Given the description of an element on the screen output the (x, y) to click on. 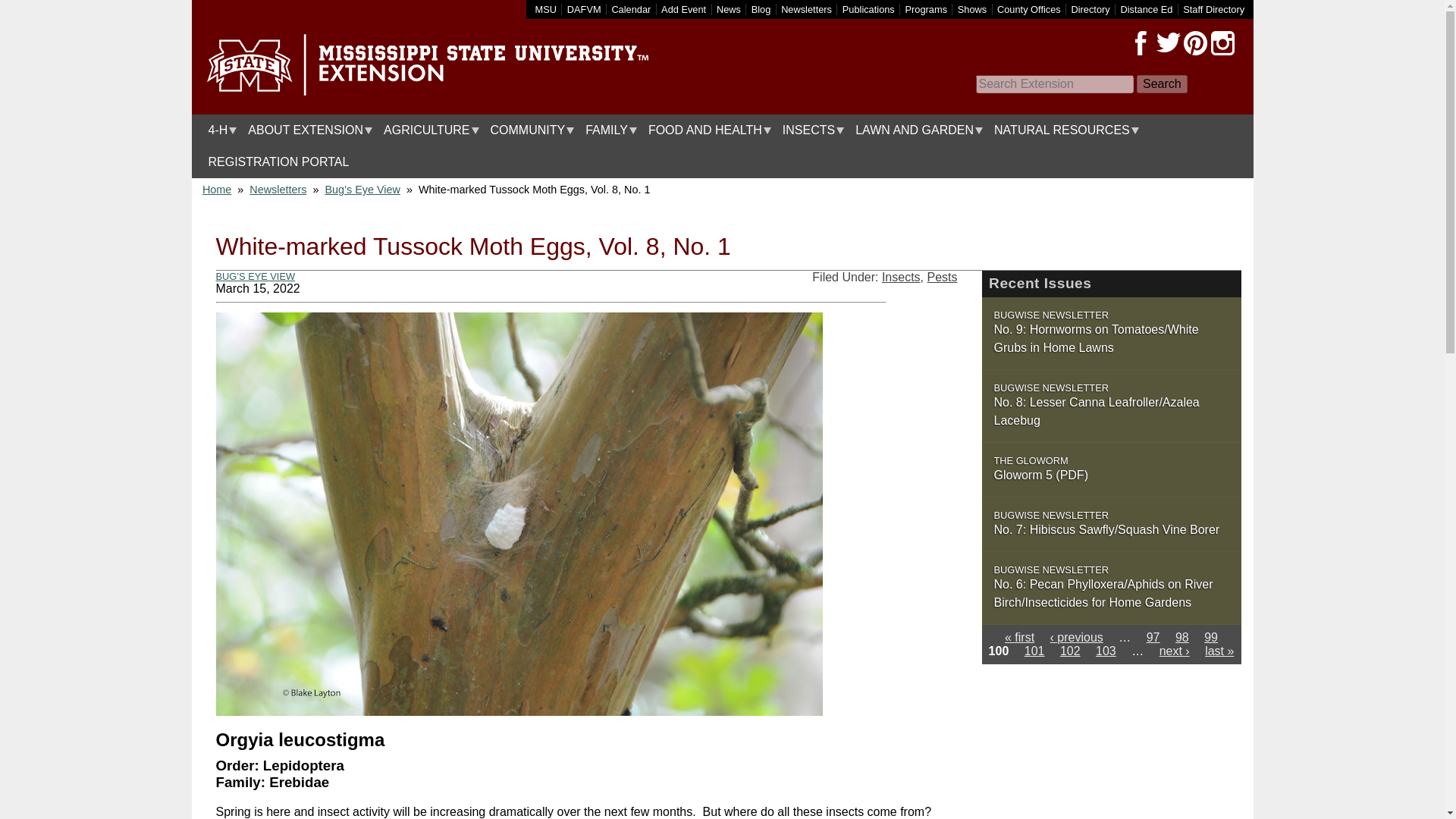
Staff Directory (1213, 9)
Shows (972, 9)
4-H (218, 130)
Instagram (1221, 43)
MSU (545, 9)
The main event calendar for the MSU Extension Service (630, 9)
Directory (1089, 9)
Link to Mississippi State University (545, 9)
Search (1162, 84)
Distance Ed (1145, 9)
County Offices (1029, 9)
